Given the description of an element on the screen output the (x, y) to click on. 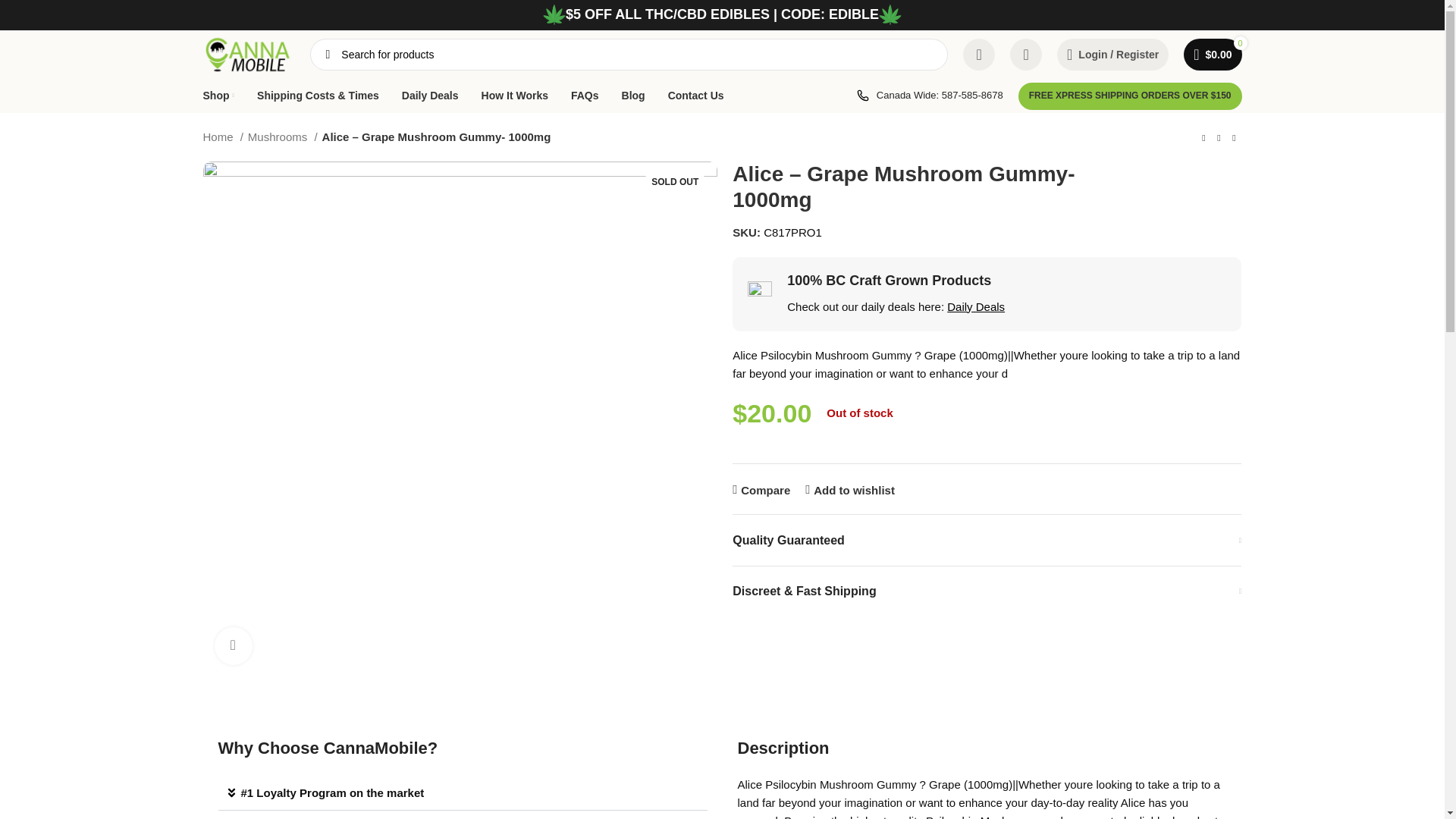
Search (327, 54)
My Wishlist (1026, 54)
Search for products (628, 54)
Compare products (979, 54)
Shop (218, 95)
My account (1112, 54)
Shopping cart (1212, 54)
